Given the description of an element on the screen output the (x, y) to click on. 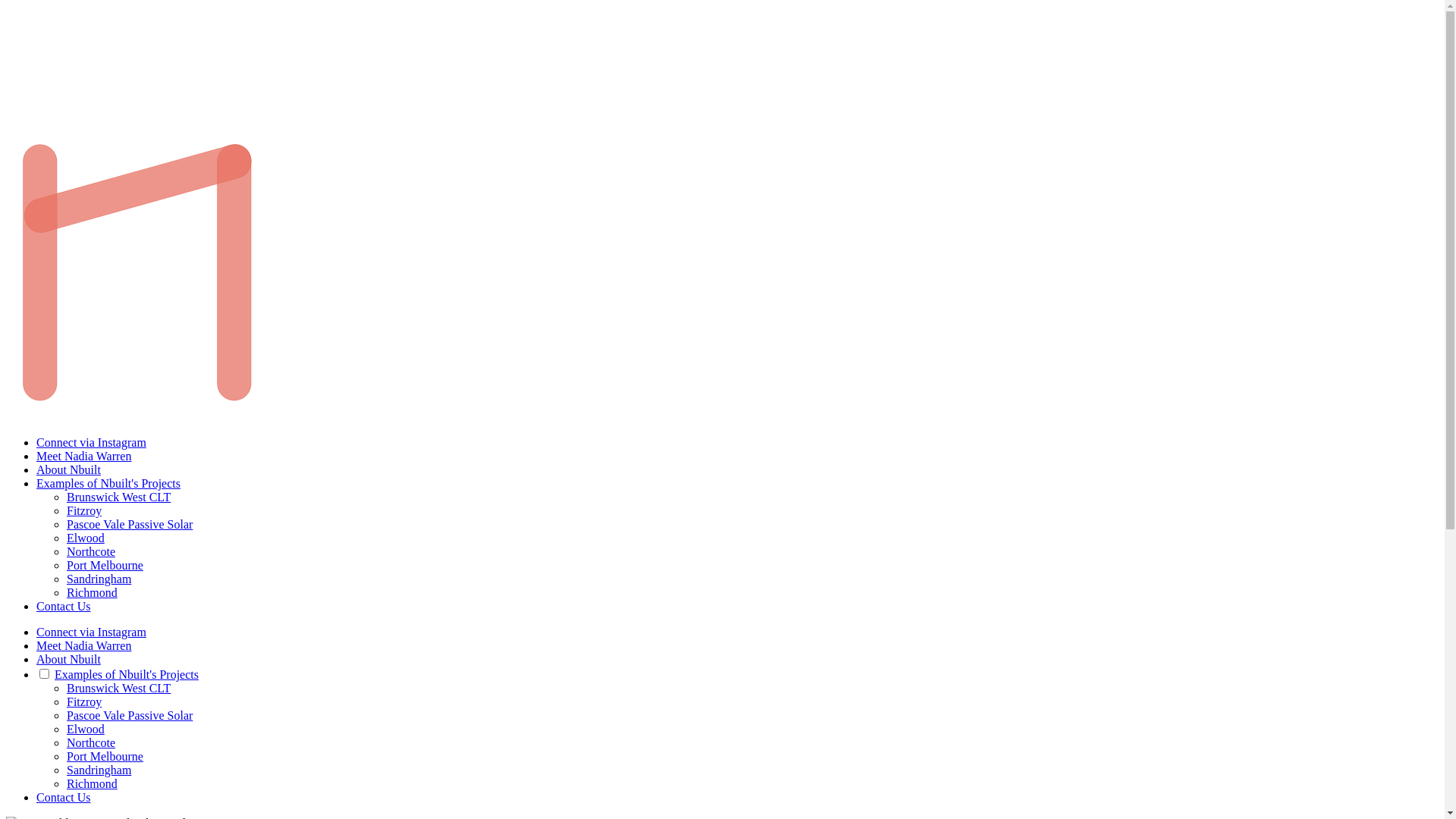
Fitzroy Element type: text (83, 701)
Connect via Instagram Element type: text (91, 631)
Richmond Element type: text (91, 592)
Connect via Instagram Element type: text (91, 442)
Contact Us Element type: text (63, 796)
Examples of Nbuilt's Projects Element type: text (108, 482)
Elwood Element type: text (85, 728)
Elwood Element type: text (85, 537)
Meet Nadia Warren Element type: text (83, 455)
Sandringham Element type: text (98, 769)
Richmond Element type: text (91, 783)
Port Melbourne Element type: text (104, 755)
Meet Nadia Warren Element type: text (83, 645)
Pascoe Vale Passive Solar Element type: text (129, 715)
Northcote Element type: text (90, 551)
Contact Us Element type: text (63, 605)
Sandringham Element type: text (98, 578)
Brunswick West CLT Element type: text (118, 687)
About Nbuilt Element type: text (68, 469)
Fitzroy Element type: text (83, 510)
Port Melbourne Element type: text (104, 564)
Brunswick West CLT Element type: text (118, 496)
About Nbuilt Element type: text (68, 658)
Examples of Nbuilt's Projects Element type: text (126, 674)
Pascoe Vale Passive Solar Element type: text (129, 523)
Northcote Element type: text (90, 742)
